Given the description of an element on the screen output the (x, y) to click on. 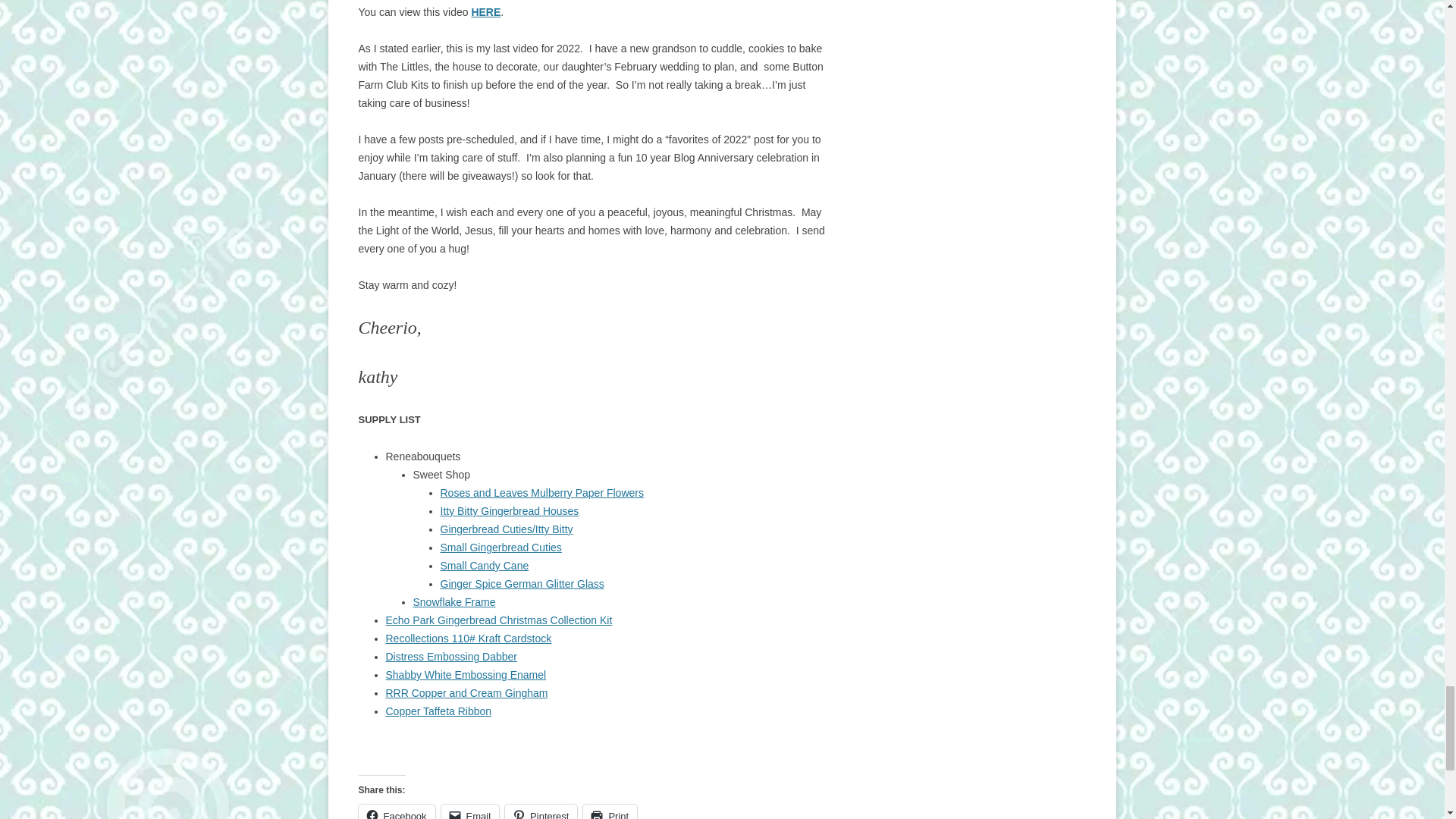
Click to share on Pinterest (540, 811)
Roses and Leaves Mulberry Paper Flowers (541, 492)
Click to share on Facebook (395, 811)
Print (610, 811)
Distress Embossing Dabber (450, 656)
Pinterest (540, 811)
Itty Bitty Gingerbread Houses (508, 510)
Shabby White Embossing Enamel (465, 674)
Copper Taffeta Ribbon (438, 711)
Click to email a link to a friend (470, 811)
Facebook (395, 811)
HERE (485, 11)
Click to print (610, 811)
RRR Copper and Cream Gingham (466, 693)
Email (470, 811)
